Given the description of an element on the screen output the (x, y) to click on. 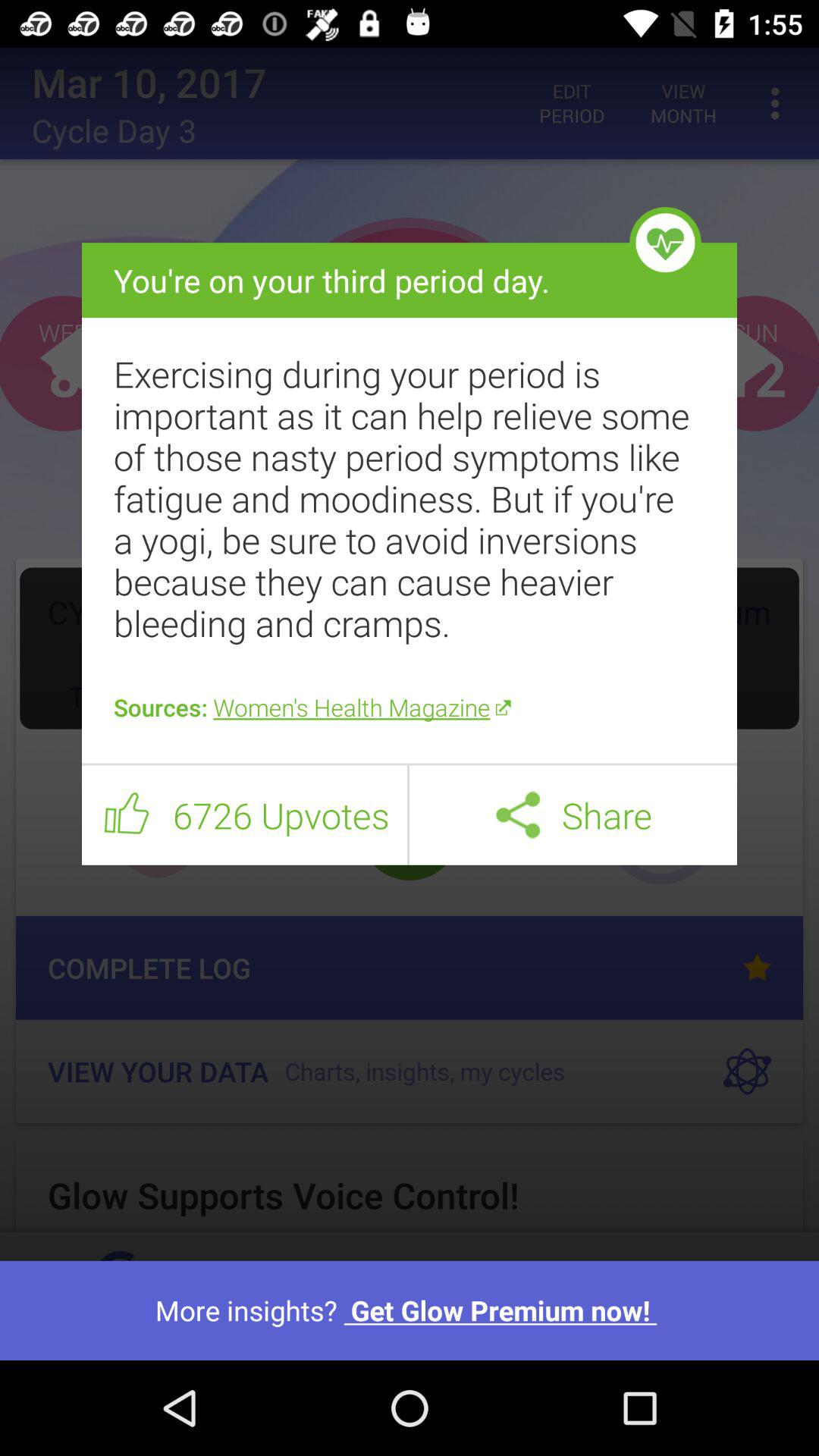
scroll until the 6726 upvotes item (280, 815)
